Given the description of an element on the screen output the (x, y) to click on. 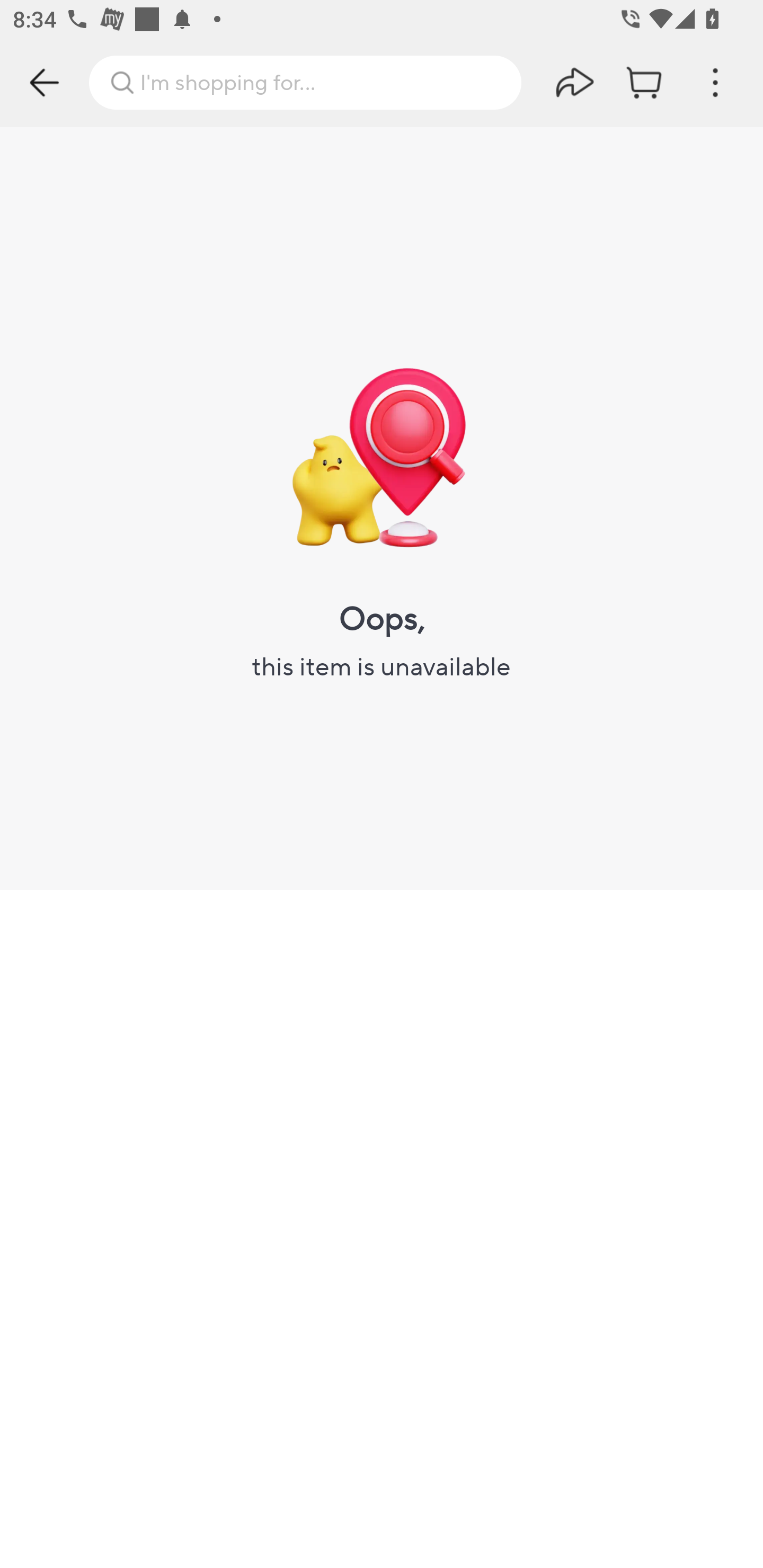
back (44, 82)
share (575, 82)
cart (645, 82)
more (715, 82)
I'm shopping for… (305, 81)
